Given the description of an element on the screen output the (x, y) to click on. 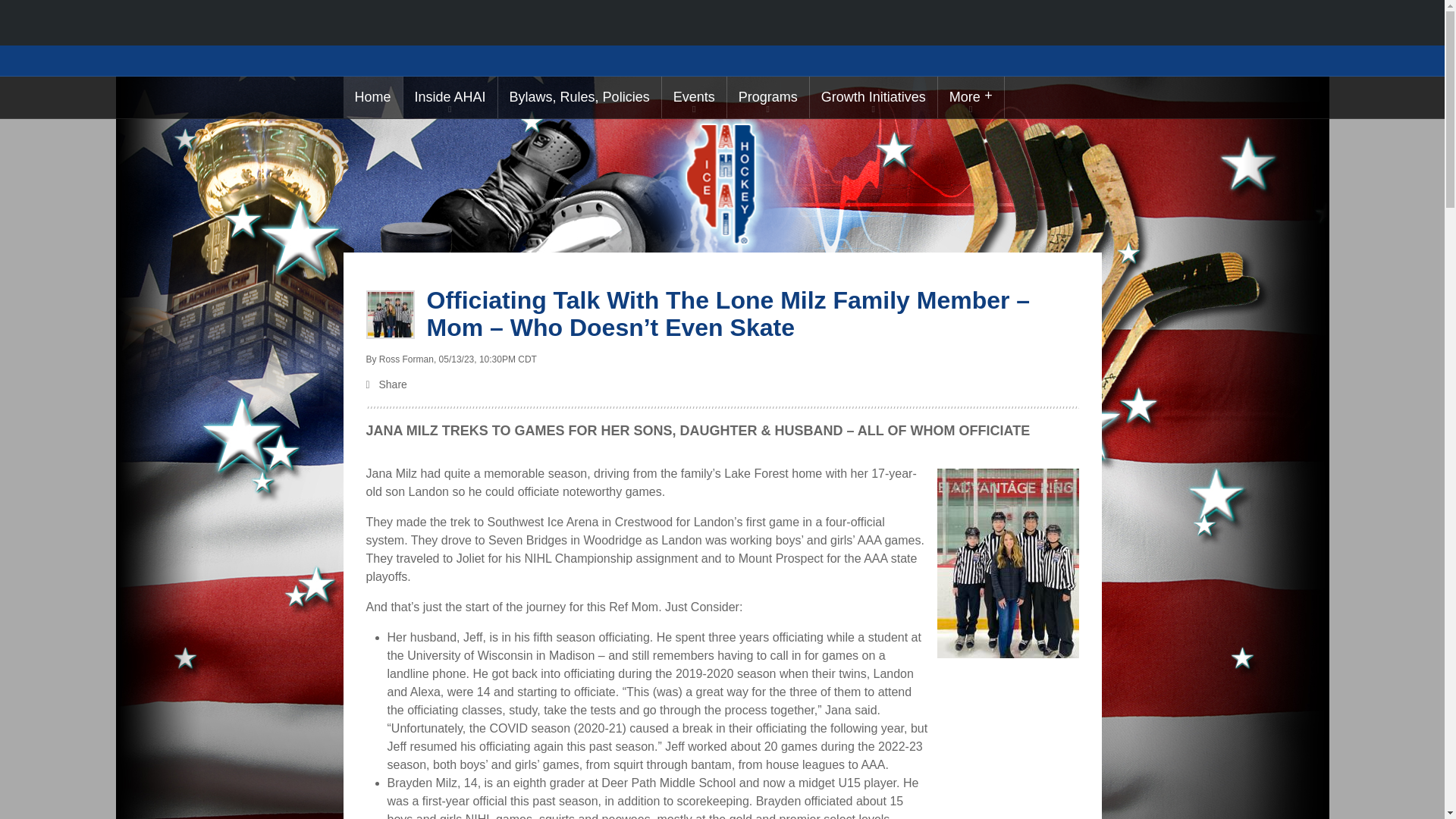
Inside AHAI (450, 96)
click to go to 'Programs' (767, 96)
image2.jpeg (389, 314)
click to go to 'Calendar of Events' (694, 96)
Home (371, 96)
Share (721, 385)
click to go to 'Inside AHAI' (450, 96)
Bylaws, Rules, Policies (579, 96)
More (970, 96)
Events (694, 96)
